Given the description of an element on the screen output the (x, y) to click on. 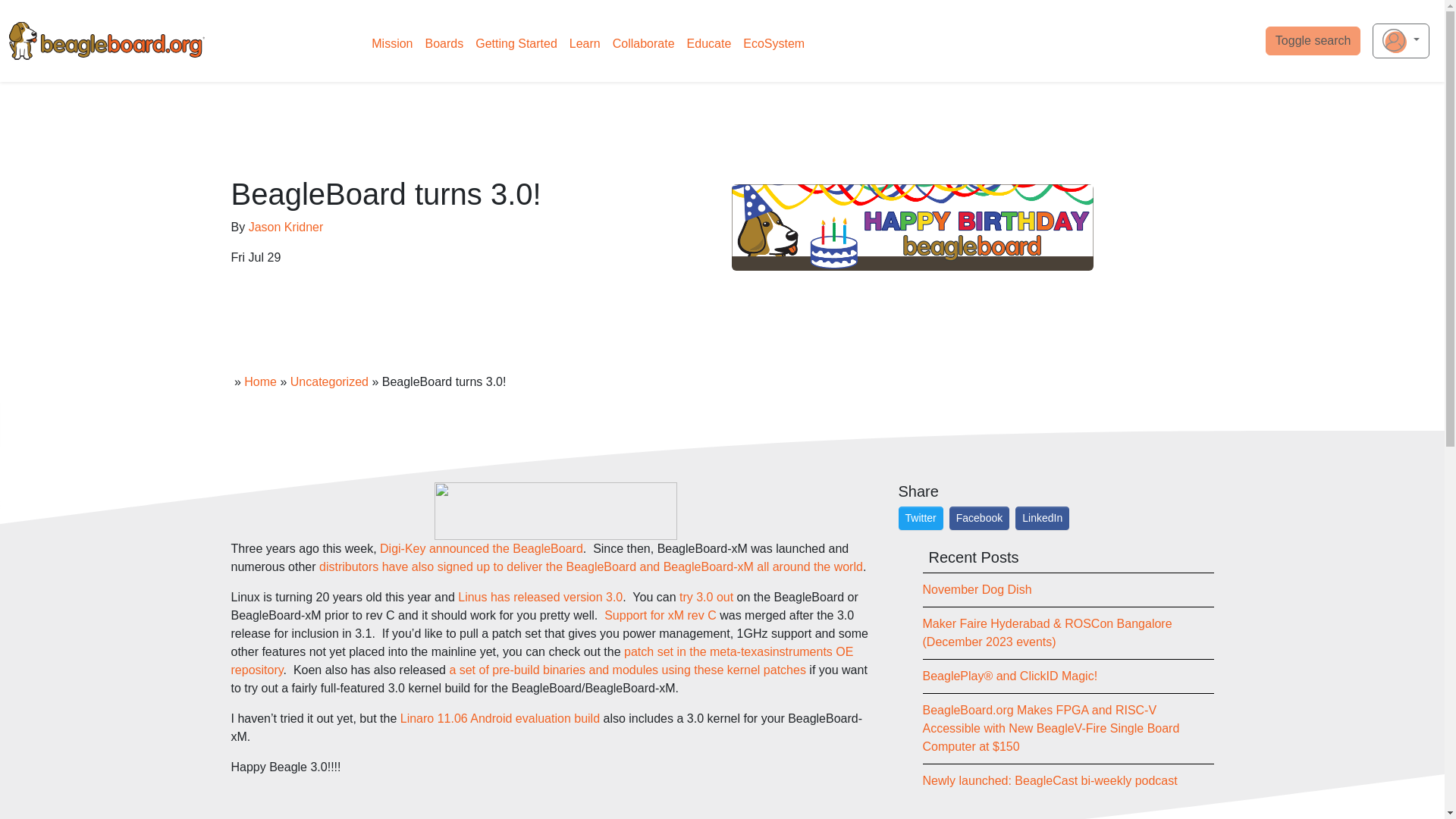
Linus has released version 3.0 (540, 596)
Twitter (920, 517)
try 3.0 out (707, 596)
Collaborate (644, 43)
Mission (392, 43)
Share on LinkedIn (1041, 517)
Getting Started (515, 43)
patch set in the meta-texasinstruments OE repository (541, 660)
Uncategorized (328, 381)
Boards (443, 43)
EcoSystem (773, 43)
Linaro 11.06 Android evaluation build (499, 717)
Home (260, 381)
Digi-Key announced the BeagleBoard (481, 548)
